Given the description of an element on the screen output the (x, y) to click on. 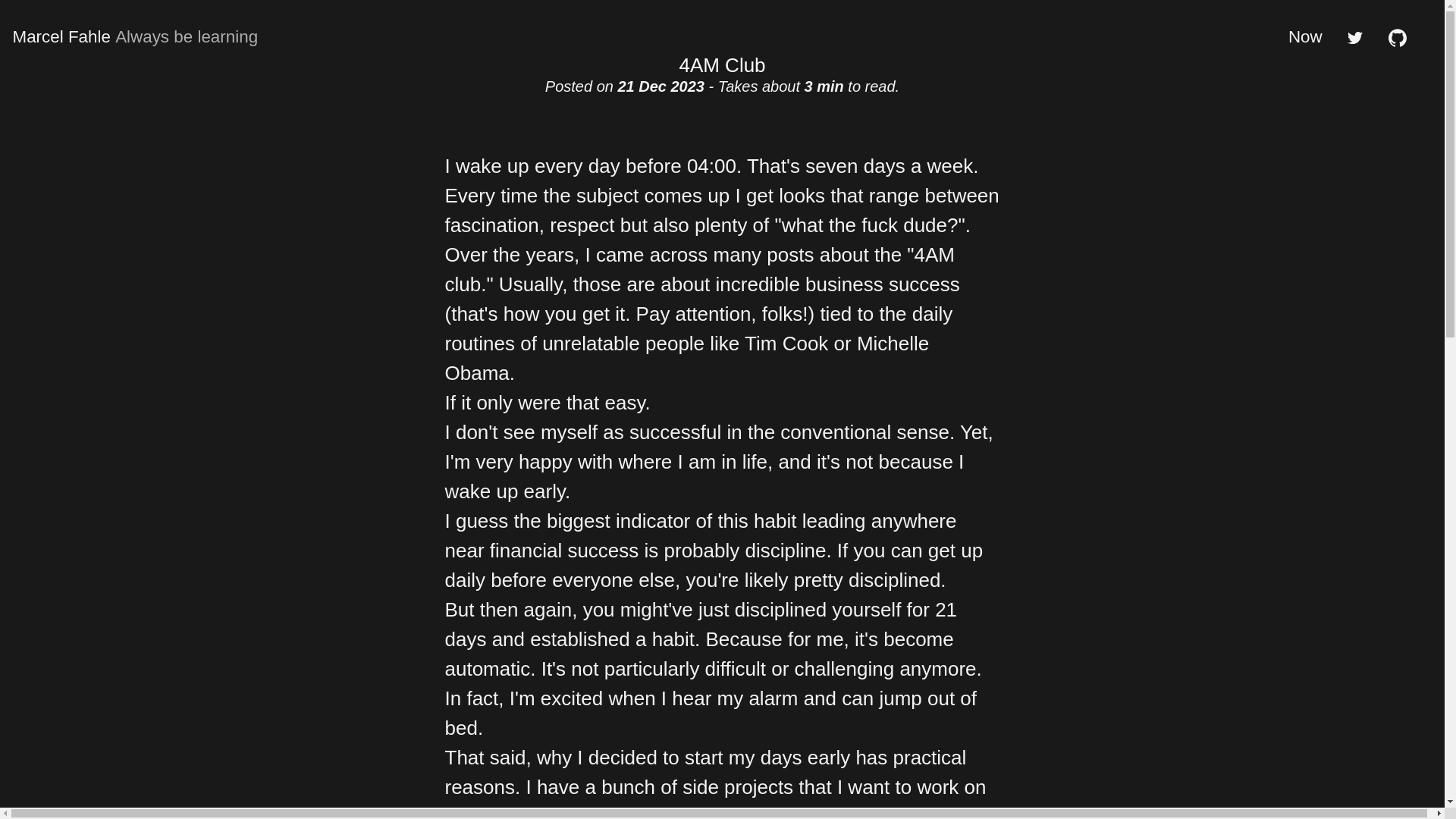
Homepage (134, 36)
Now (1305, 36)
Marcel Fahle Always be learning (134, 36)
you might've just disciplined yourself for 21 days (700, 624)
